Given the description of an element on the screen output the (x, y) to click on. 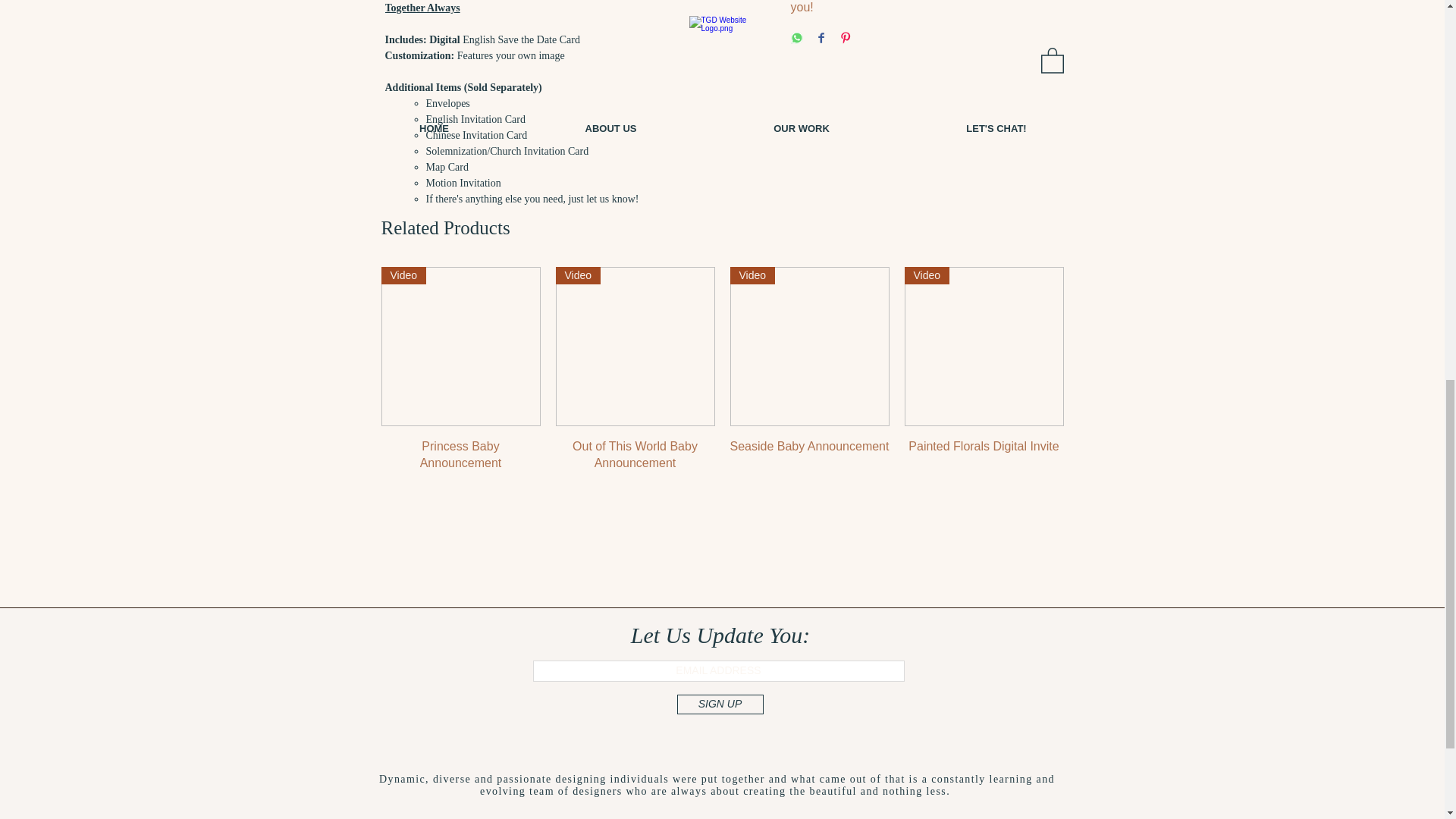
Video (460, 345)
Video (634, 345)
Video (983, 345)
Video (808, 345)
Painted Florals Digital Invite (983, 455)
Princess Baby Announcement (460, 455)
Out of This World Baby Announcement (634, 455)
Seaside Baby Announcement (808, 455)
